Given the description of an element on the screen output the (x, y) to click on. 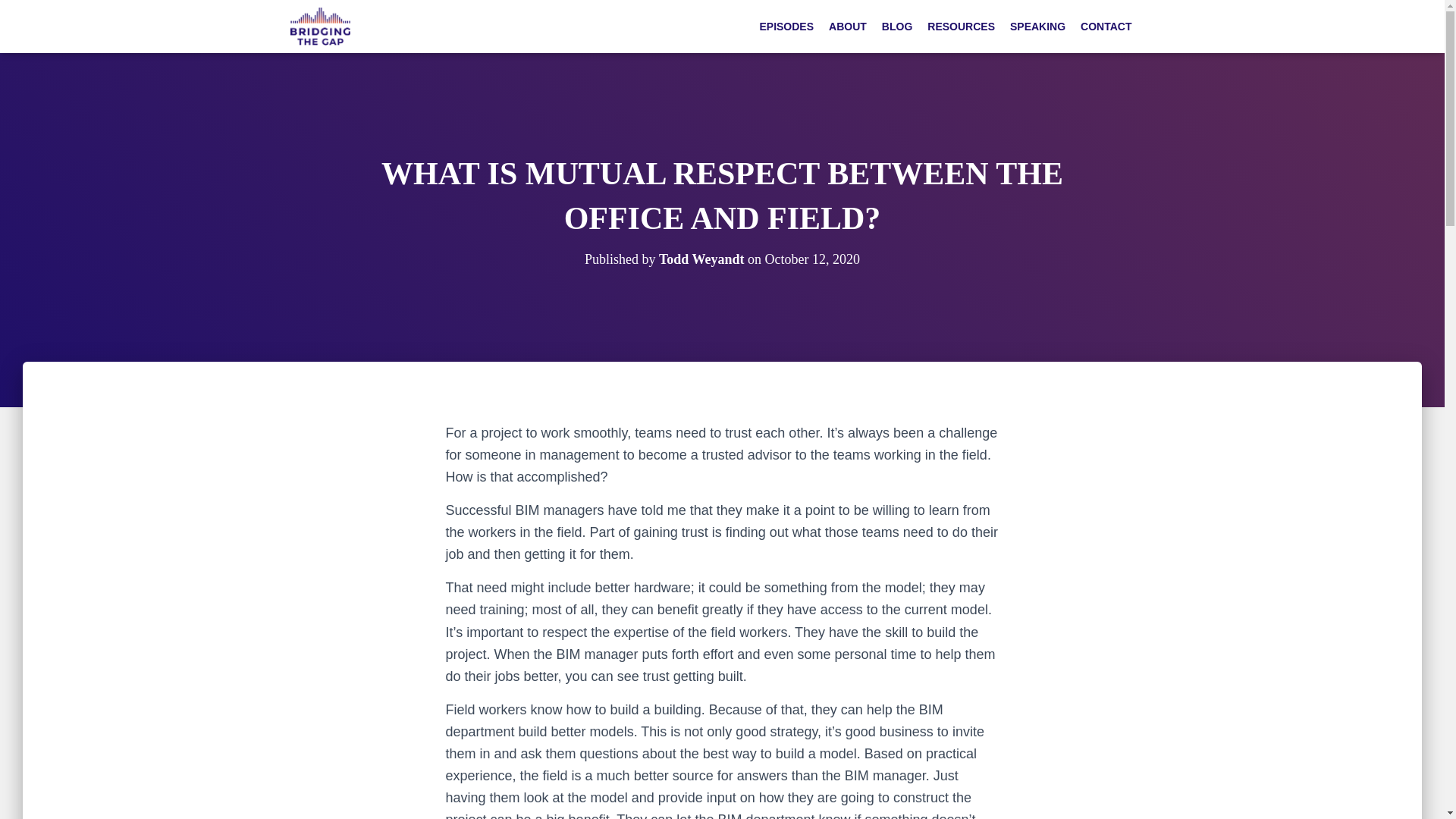
Bridging the Gap Podcast (320, 26)
BLOG (897, 26)
Todd Weyandt (701, 258)
RESOURCES (961, 26)
CONTACT (1105, 26)
EPISODES (786, 26)
ABOUT (848, 26)
SPEAKING (1038, 26)
